Given the description of an element on the screen output the (x, y) to click on. 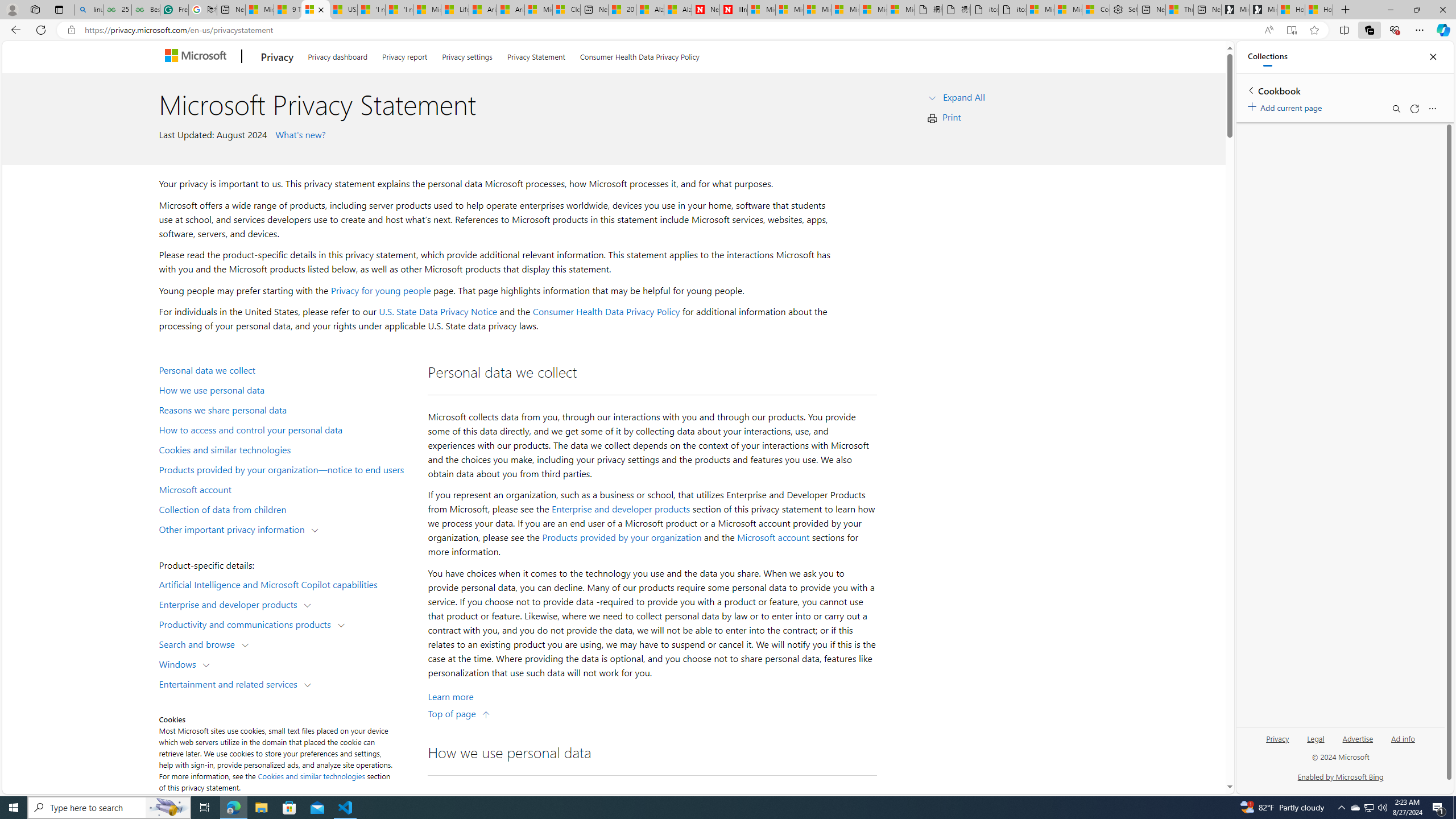
Cookies and similar technologies (311, 775)
USA TODAY - MSN (343, 9)
Privacy settings (466, 54)
Lifestyle - MSN (454, 9)
More options menu (1432, 108)
Cookies and similar technologies (287, 449)
Microsoft account (287, 488)
